Given the description of an element on the screen output the (x, y) to click on. 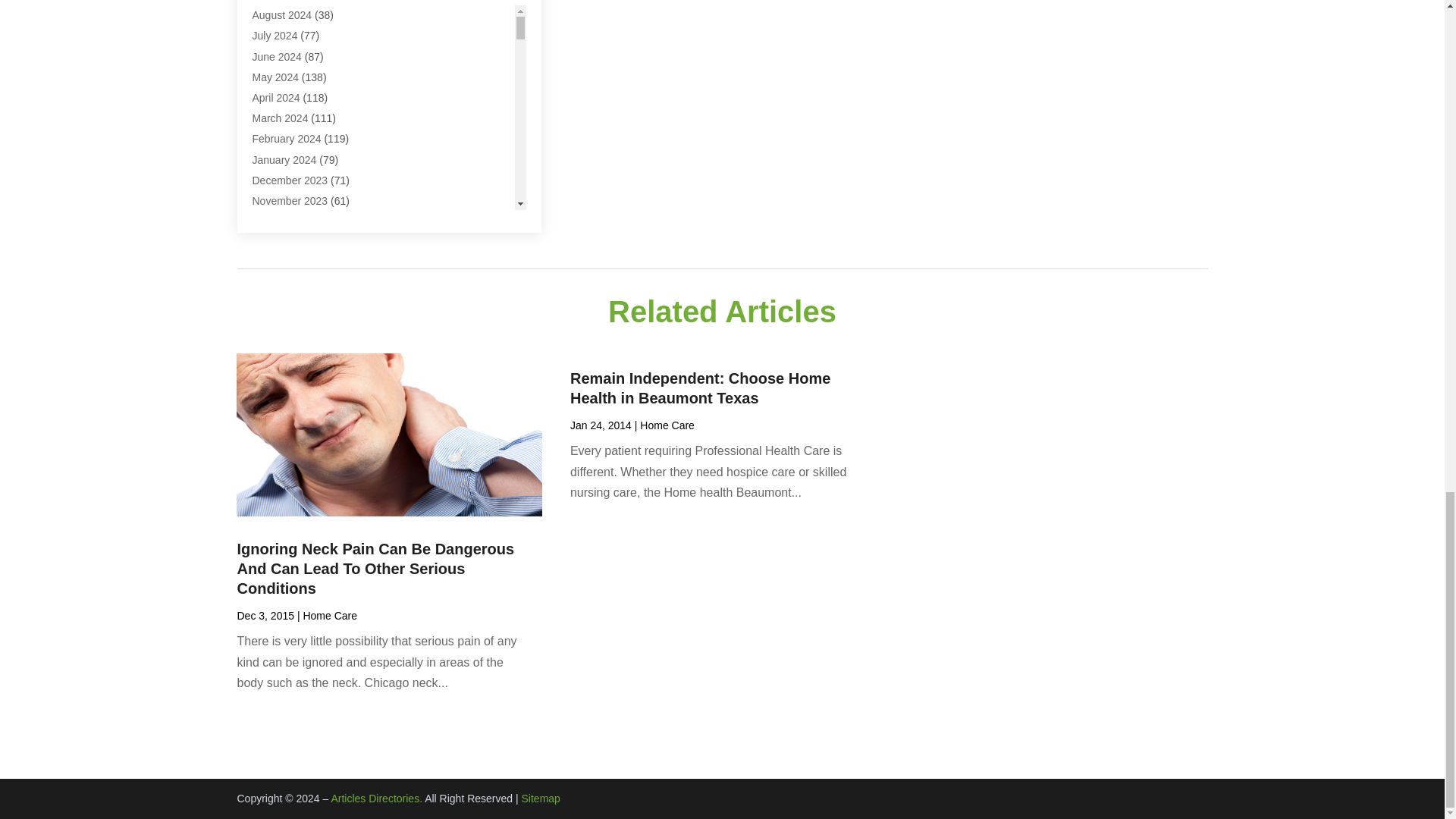
Agriculture (276, 2)
Air Conditioning (288, 39)
Air Conditioning Contractor (314, 60)
Air Conditioners (289, 19)
